Given the description of an element on the screen output the (x, y) to click on. 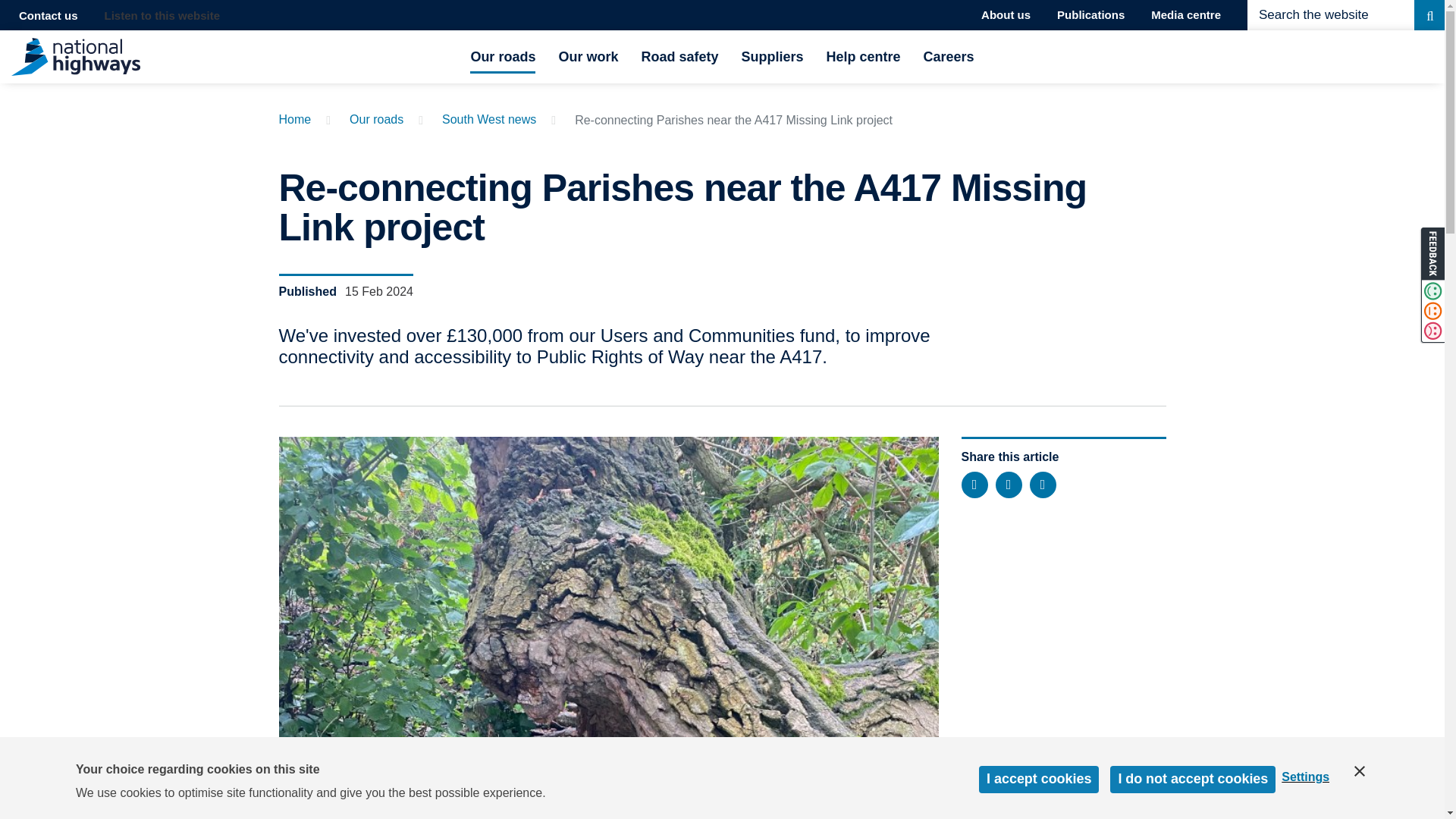
Listen to this website (162, 15)
Our work (587, 56)
Contact us (48, 15)
South West news (488, 119)
Media centre (1186, 15)
Our roads (376, 119)
South West news (488, 119)
About us (1005, 15)
Share on FaceBook (1008, 484)
Settings (1312, 811)
Careers (948, 56)
Help centre (864, 56)
Suppliers (772, 56)
Share on X (974, 484)
Home (295, 119)
